Given the description of an element on the screen output the (x, y) to click on. 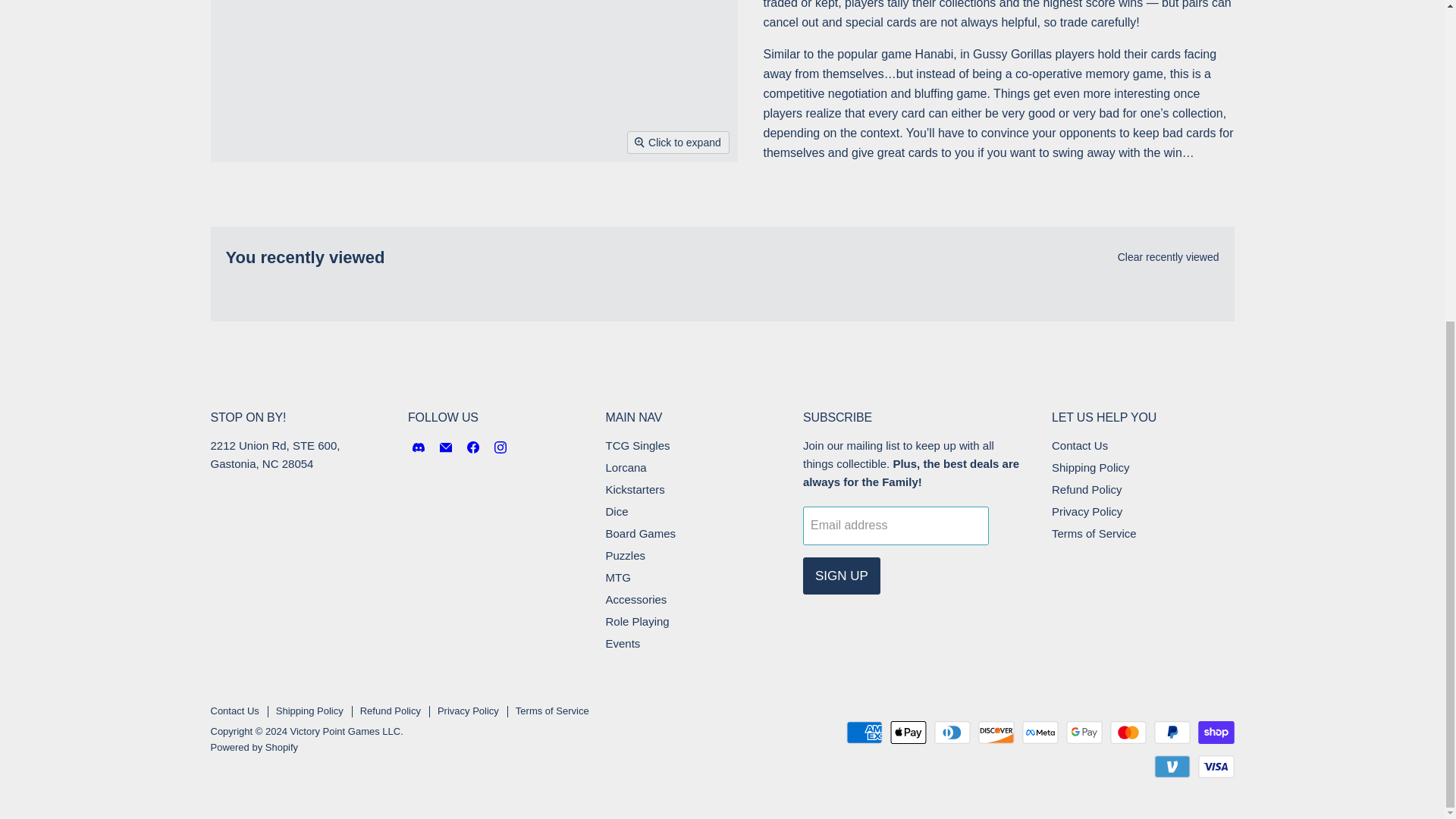
Apple Pay (907, 732)
Discord (418, 446)
Discover (996, 732)
Instagram (500, 446)
American Express (863, 732)
Meta Pay (1040, 732)
Diners Club (952, 732)
Email (446, 446)
Facebook (473, 446)
